Given the description of an element on the screen output the (x, y) to click on. 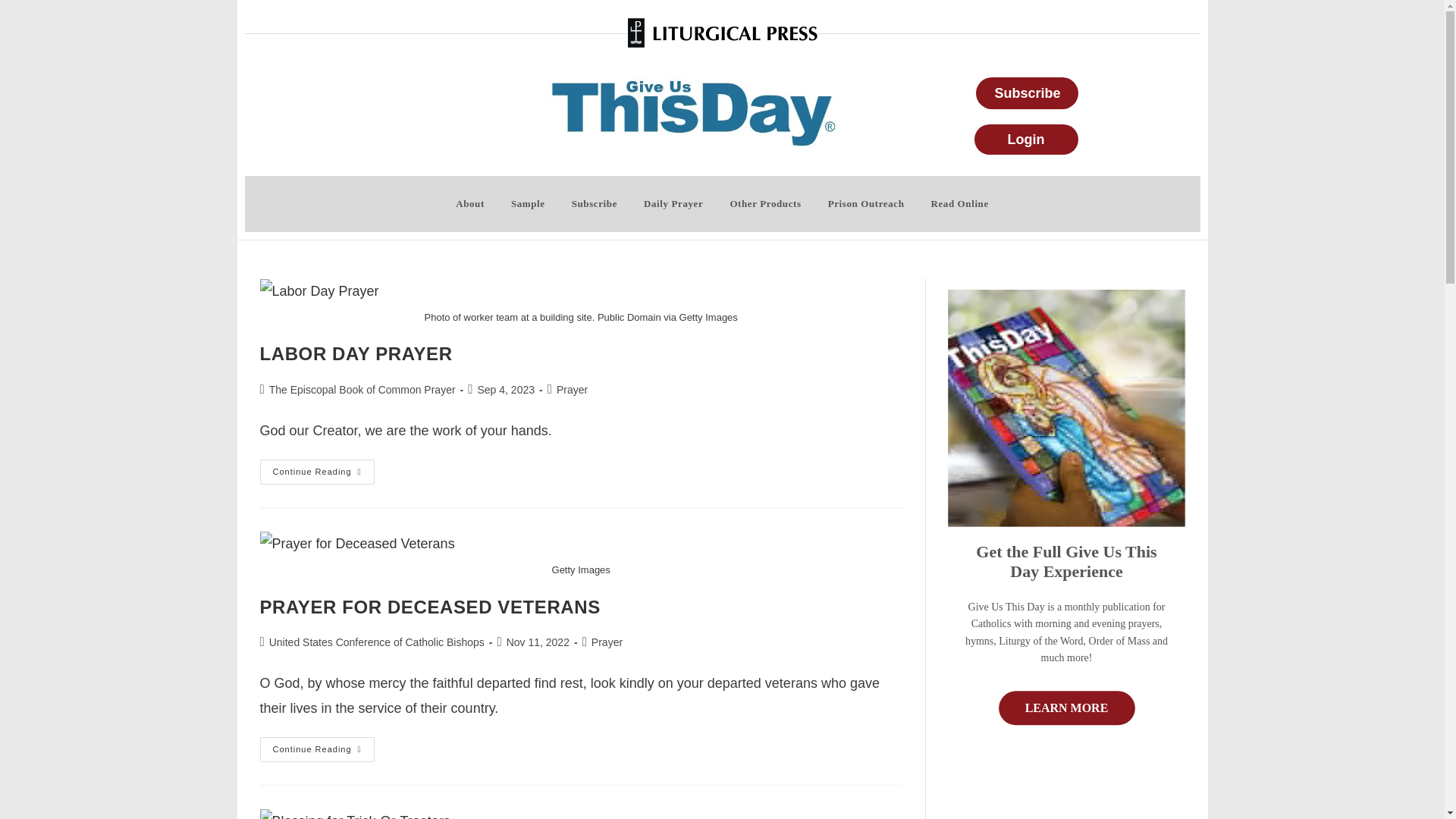
Read Online (958, 203)
The Episcopal Book of Common Prayer (362, 389)
Continue Reading (316, 471)
Daily Prayer (672, 203)
PRAYER FOR DECEASED VETERANS (429, 607)
Posts by The Episcopal Book of Common Prayer (362, 389)
Continue Reading (316, 749)
Subscribe (594, 203)
Login (1026, 139)
Other Products (764, 203)
